Given the description of an element on the screen output the (x, y) to click on. 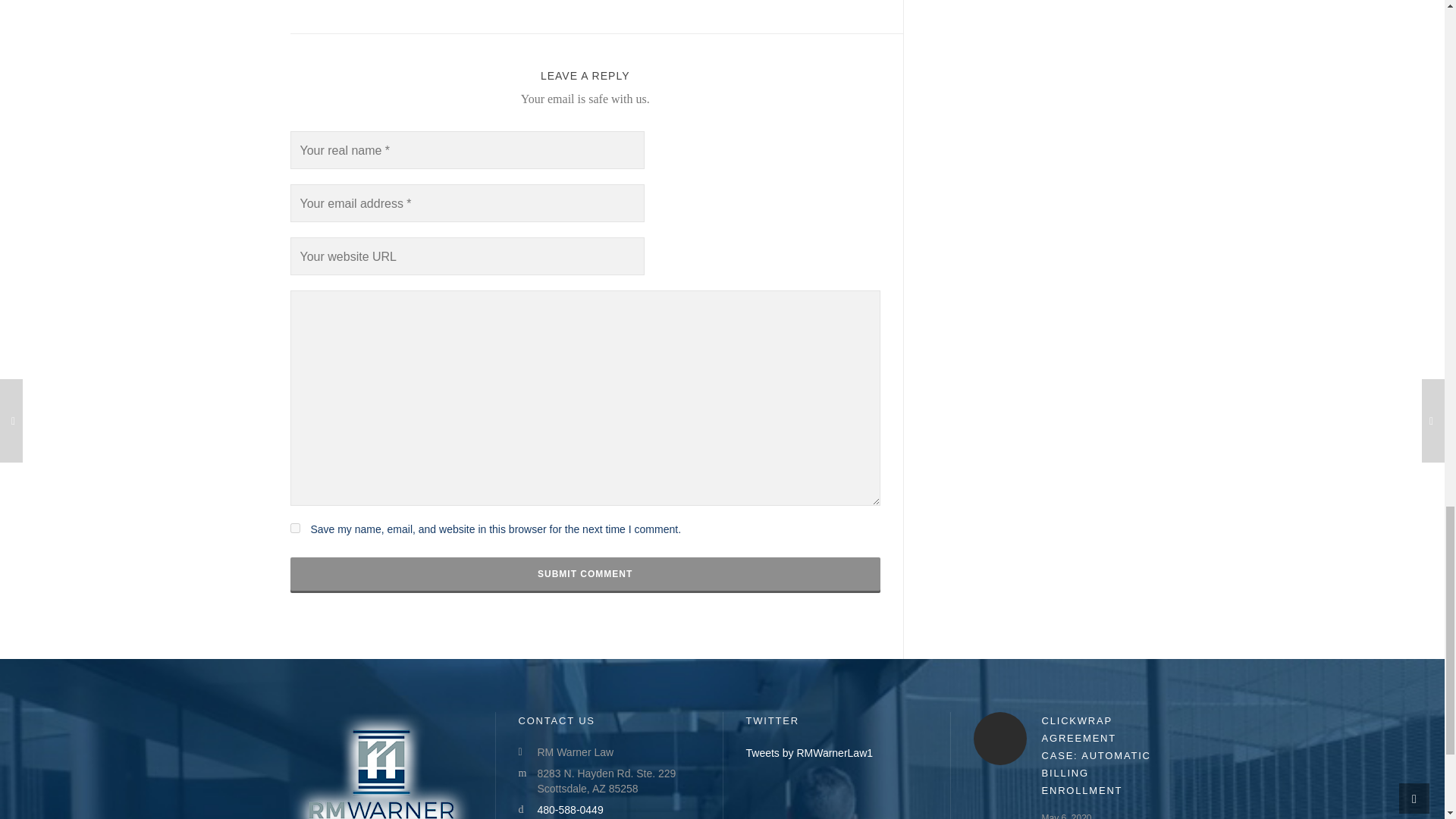
Submit Comment (584, 573)
yes (294, 528)
